Given the description of an element on the screen output the (x, y) to click on. 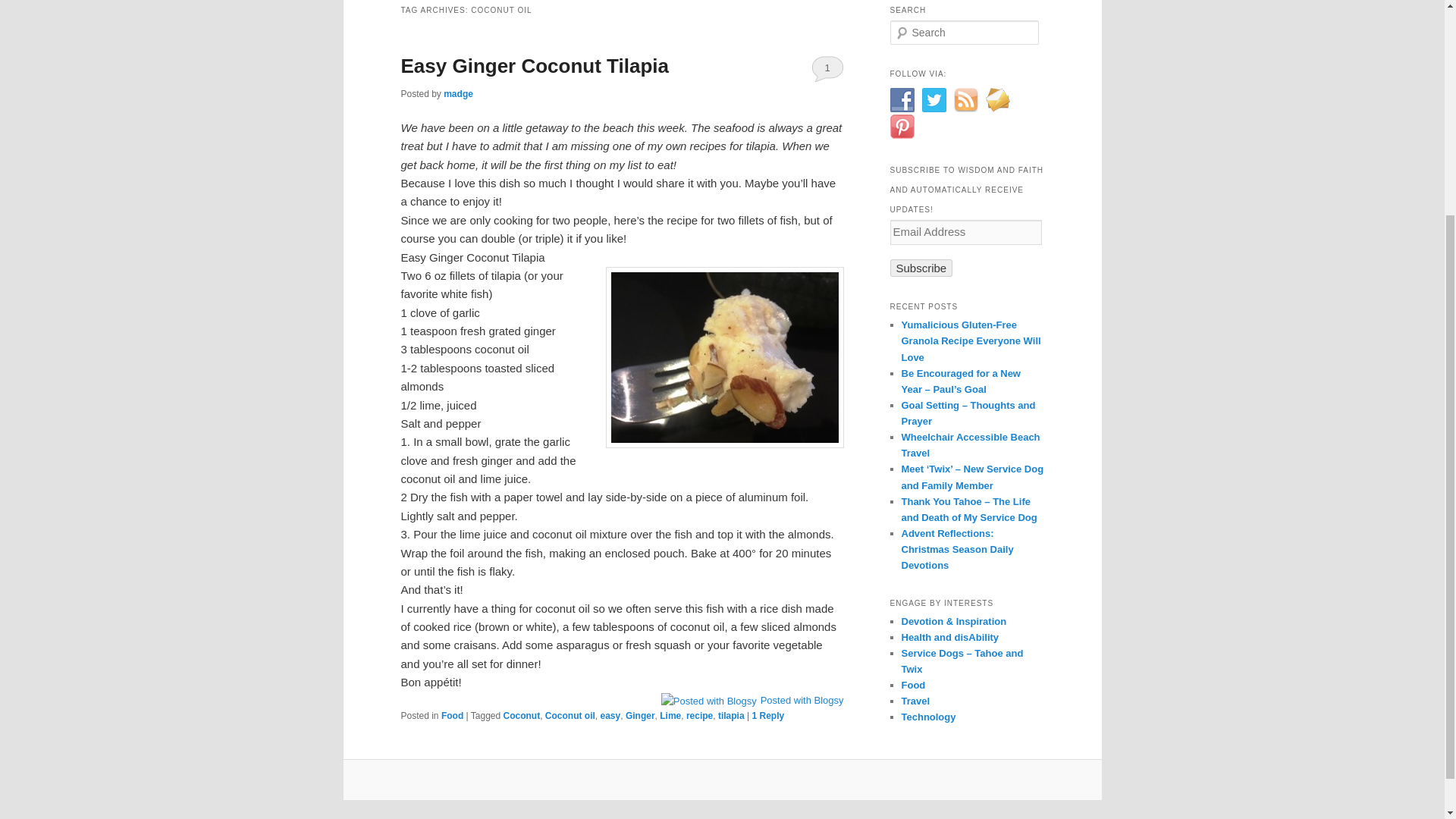
Advent Reflections: Christmas Season Daily Devotions (957, 548)
Posted with Blogsy (752, 699)
Yumalicious Gluten-Free Granola Recipe Everyone Will Love (971, 340)
Follow via: E-mail (997, 99)
Follow via: Twitter (933, 99)
madge (458, 93)
1 Reply (767, 715)
Subscribe (921, 267)
tilapia (730, 715)
Lime (670, 715)
